Given the description of an element on the screen output the (x, y) to click on. 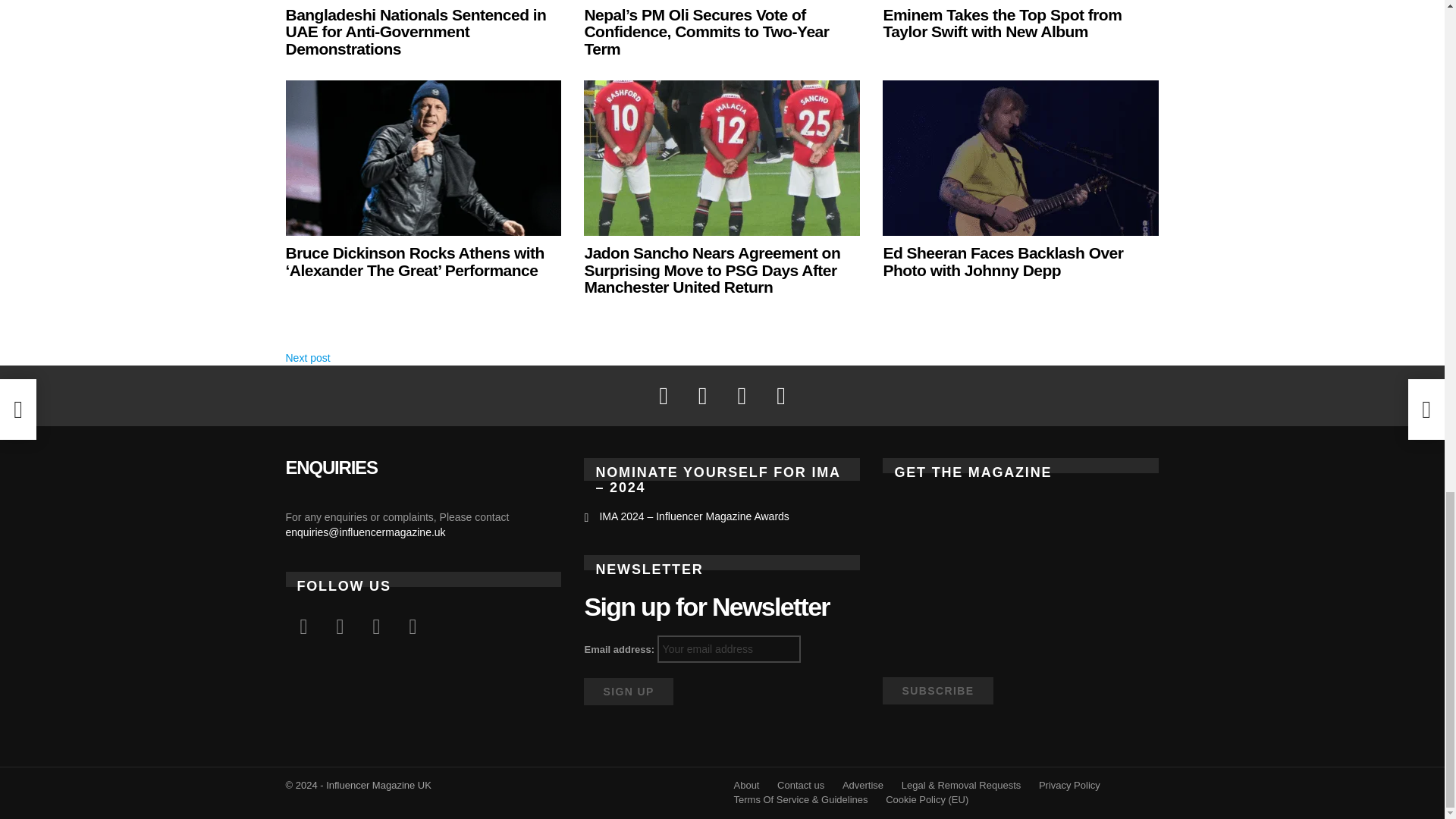
Next post (307, 357)
Ed Sheeran Faces Backlash Over Photo with Johnny Depp (1020, 157)
Eminem Takes the Top Spot from Taylor Swift with New Album (1001, 22)
facebook (303, 627)
Ed Sheeran Faces Backlash Over Photo with Johnny Depp (1002, 261)
Sign up (627, 691)
